Given the description of an element on the screen output the (x, y) to click on. 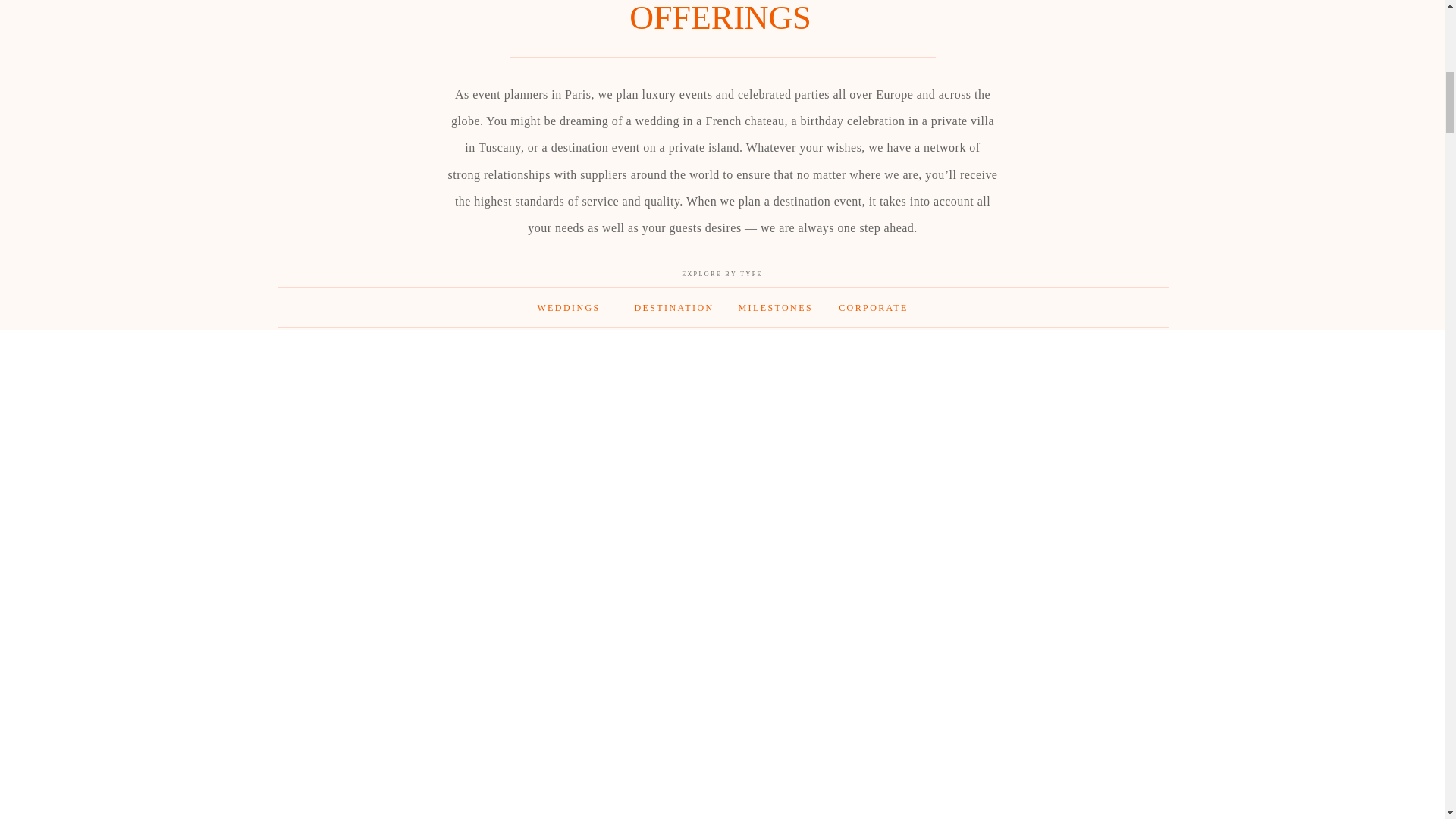
MILESTONES (774, 311)
CORPORATE (872, 311)
WEDDINGS (568, 311)
DESTINATION (669, 311)
